Given the description of an element on the screen output the (x, y) to click on. 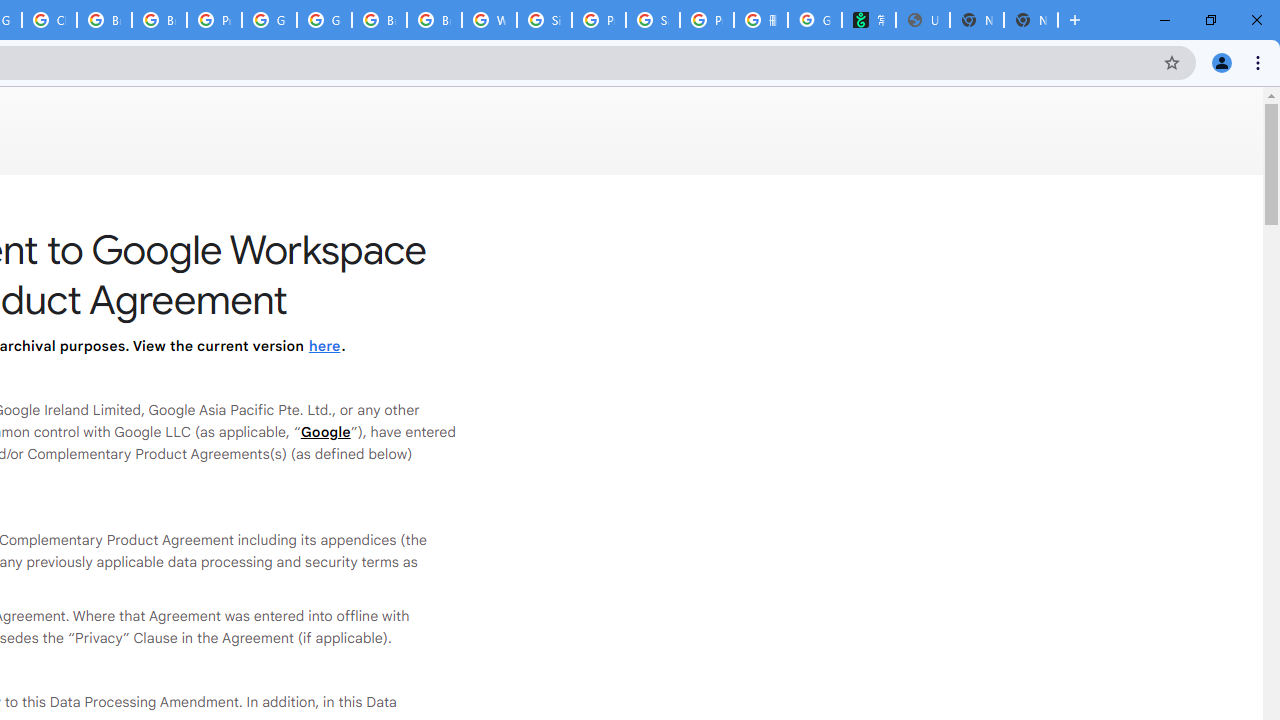
Browse Chrome as a guest - Computer - Google Chrome Help (103, 20)
Google Cloud Platform (268, 20)
Untitled (922, 20)
Browse Chrome as a guest - Computer - Google Chrome Help (379, 20)
